Given the description of an element on the screen output the (x, y) to click on. 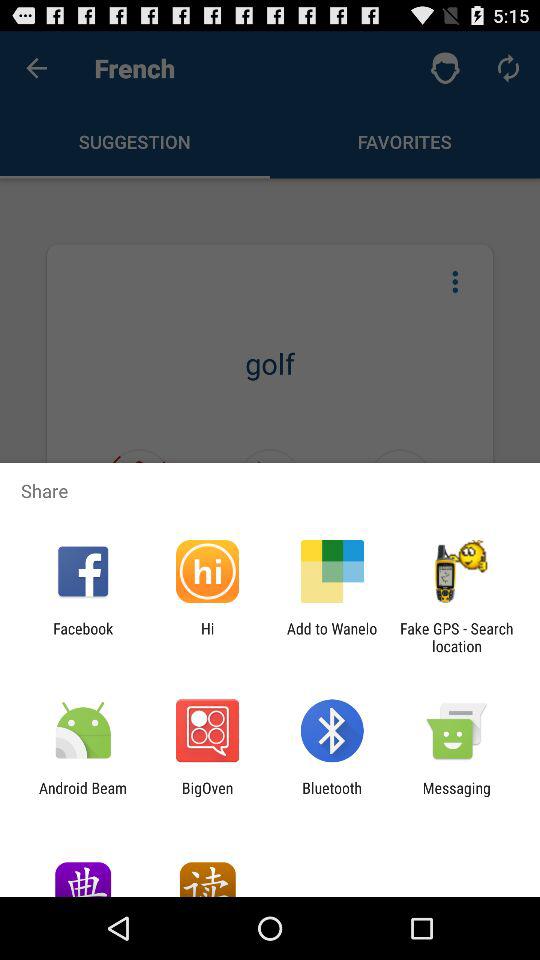
jump until android beam item (83, 796)
